Given the description of an element on the screen output the (x, y) to click on. 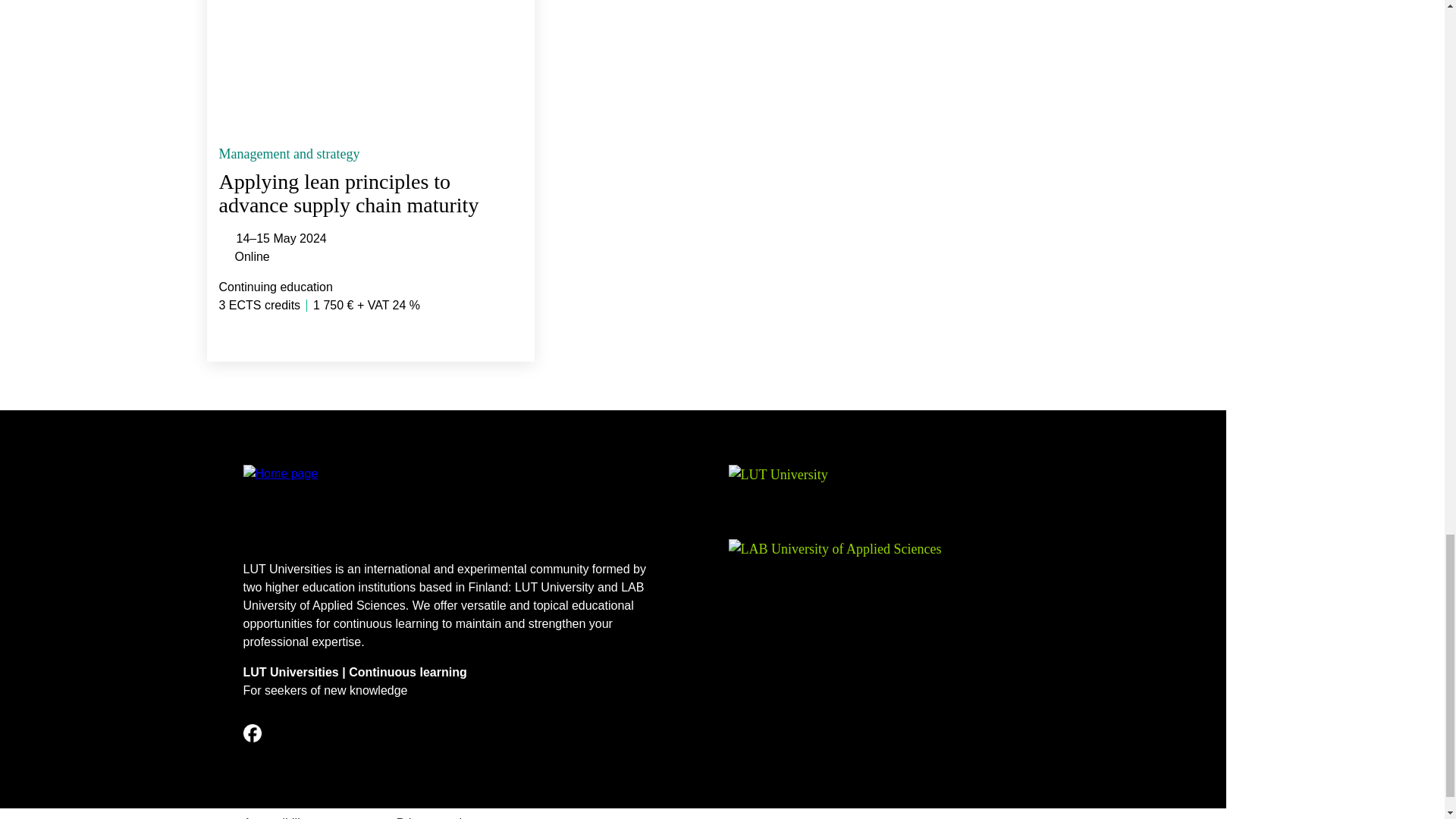
Home page (449, 506)
Privacy settings (438, 817)
Check us out on Facebook. (251, 732)
Accessibility statement (304, 817)
